Given the description of an element on the screen output the (x, y) to click on. 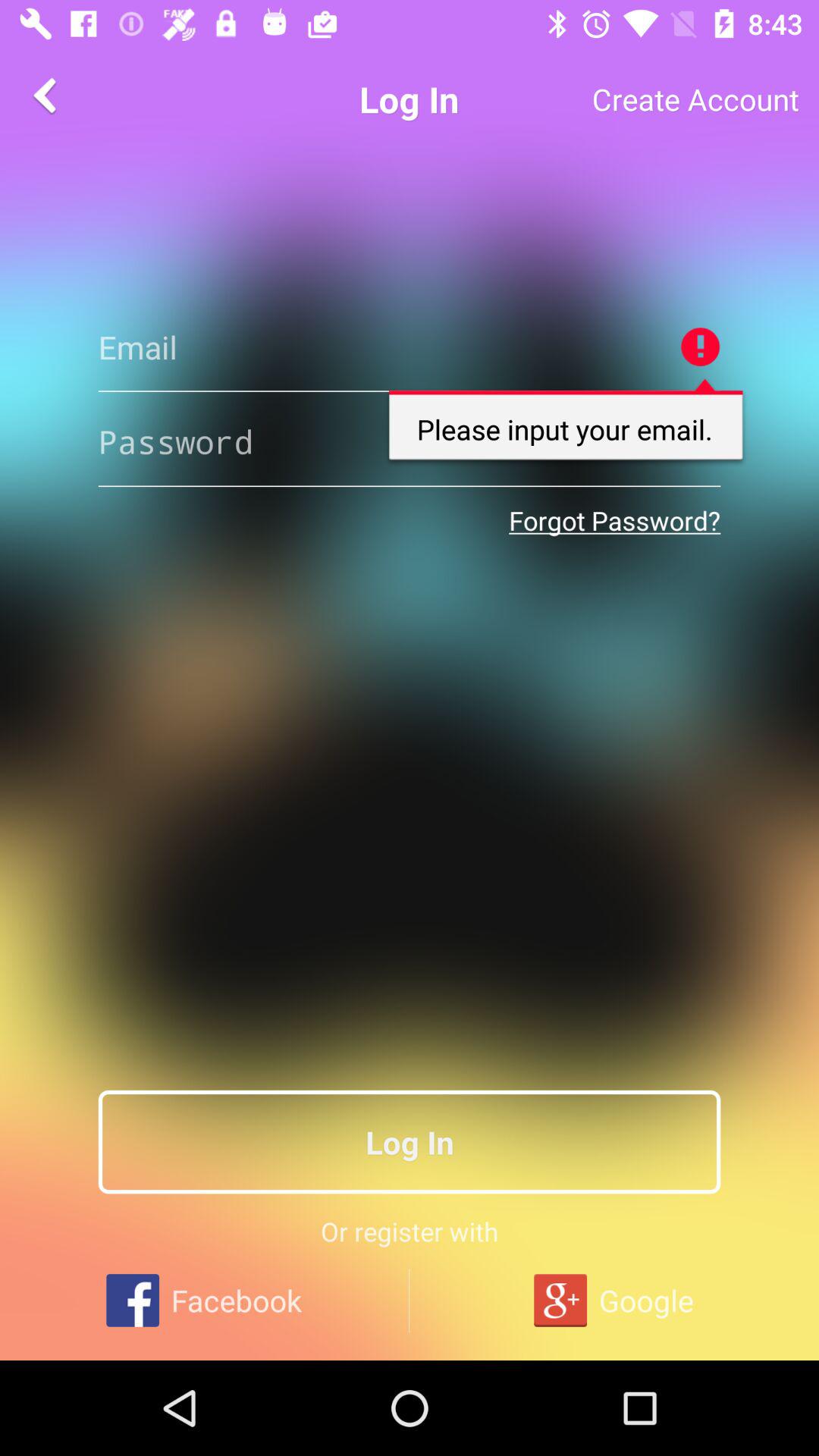
password section (409, 441)
